Given the description of an element on the screen output the (x, y) to click on. 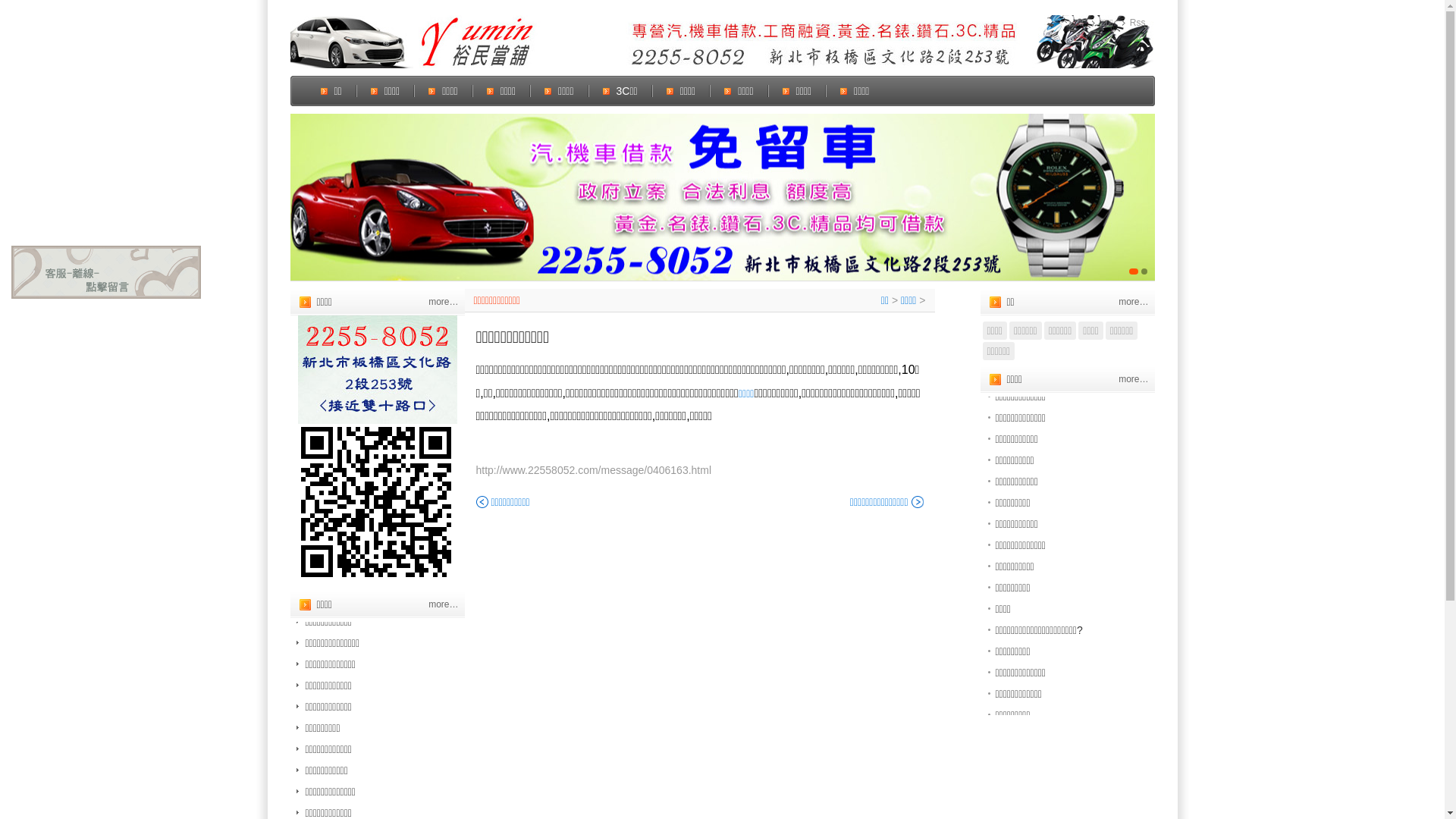
Rss Element type: text (1133, 22)
http://www.22558052.com/message/0406163.html Element type: text (594, 470)
